Given the description of an element on the screen output the (x, y) to click on. 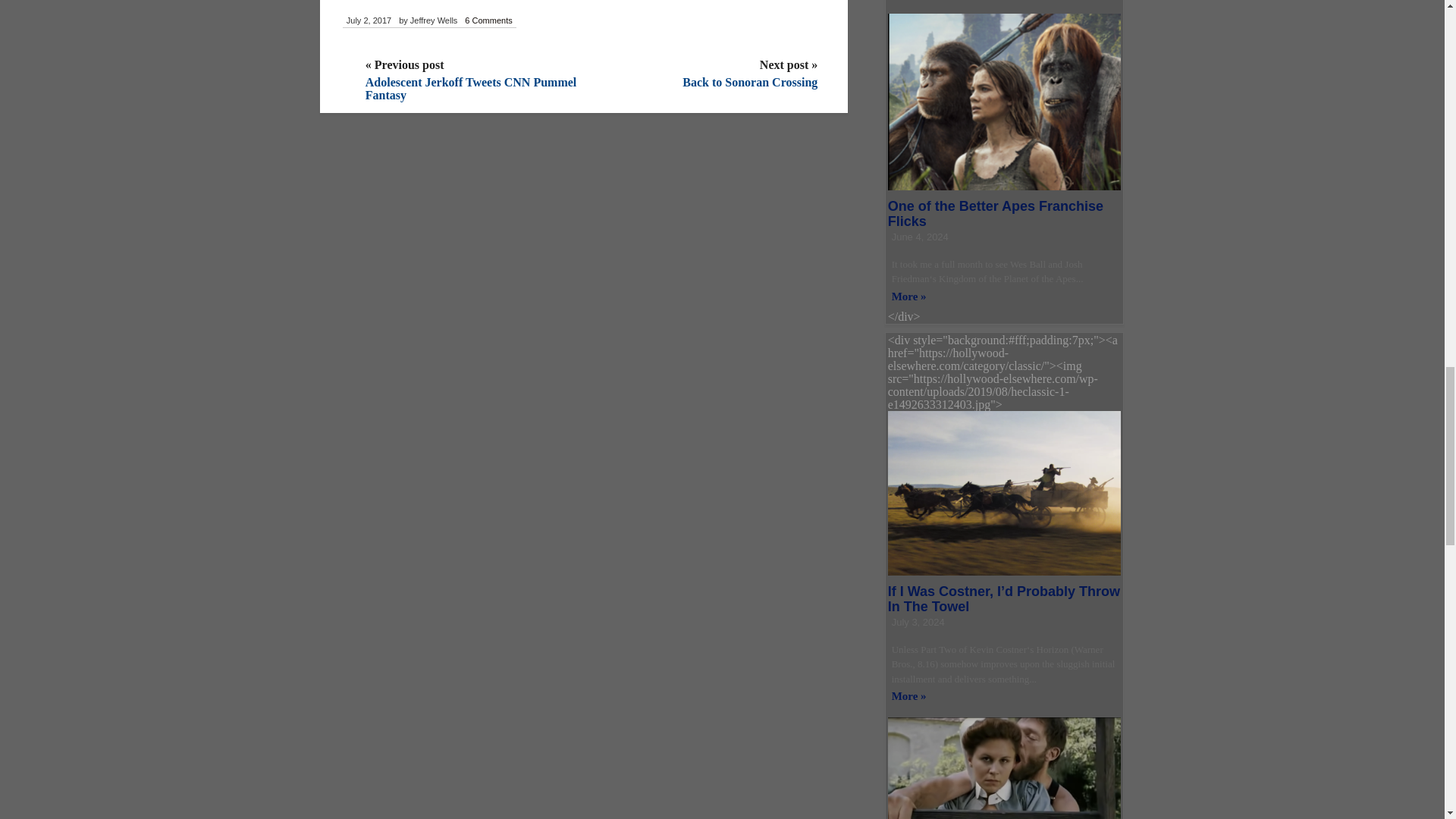
6 Comments (488, 20)
July 2, 2017 (368, 20)
by Jeffrey Wells (427, 20)
